Given the description of an element on the screen output the (x, y) to click on. 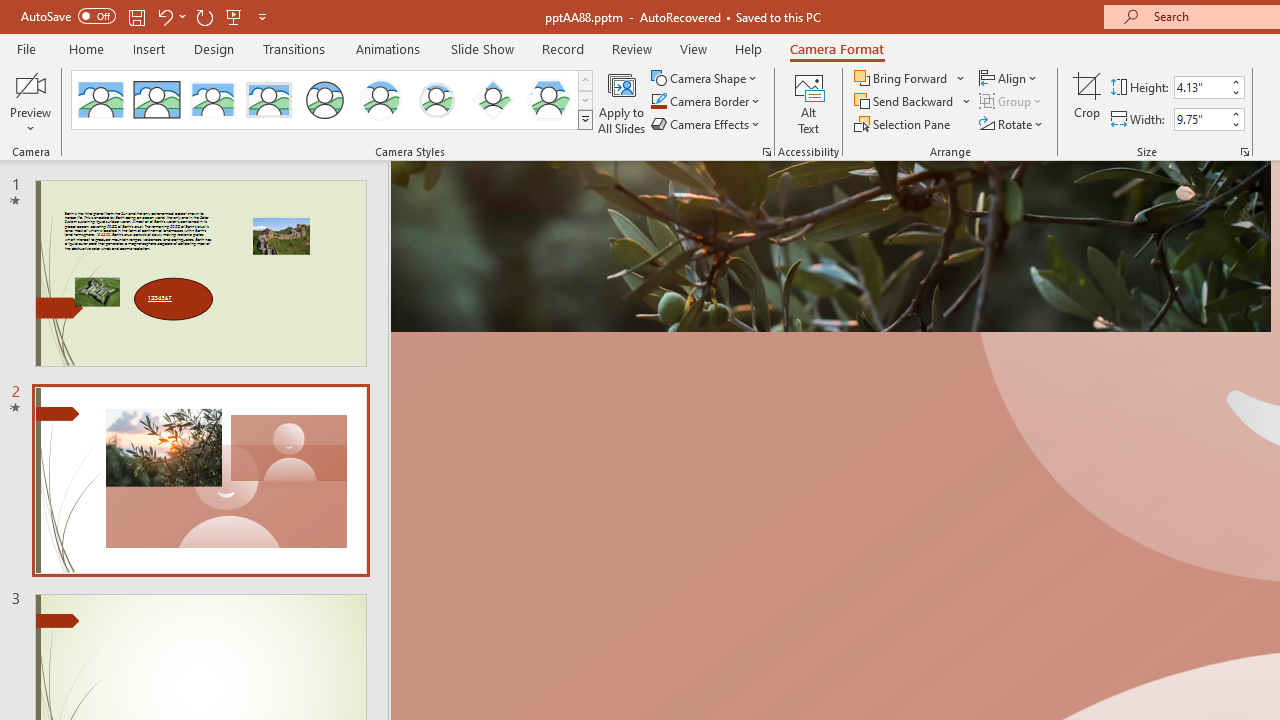
Center Shadow Hexagon (548, 100)
Send Backward (905, 101)
Crop (1087, 102)
Size and Position... (1244, 151)
Align (1009, 78)
Center Shadow Diamond (492, 100)
Send Backward (913, 101)
